Given the description of an element on the screen output the (x, y) to click on. 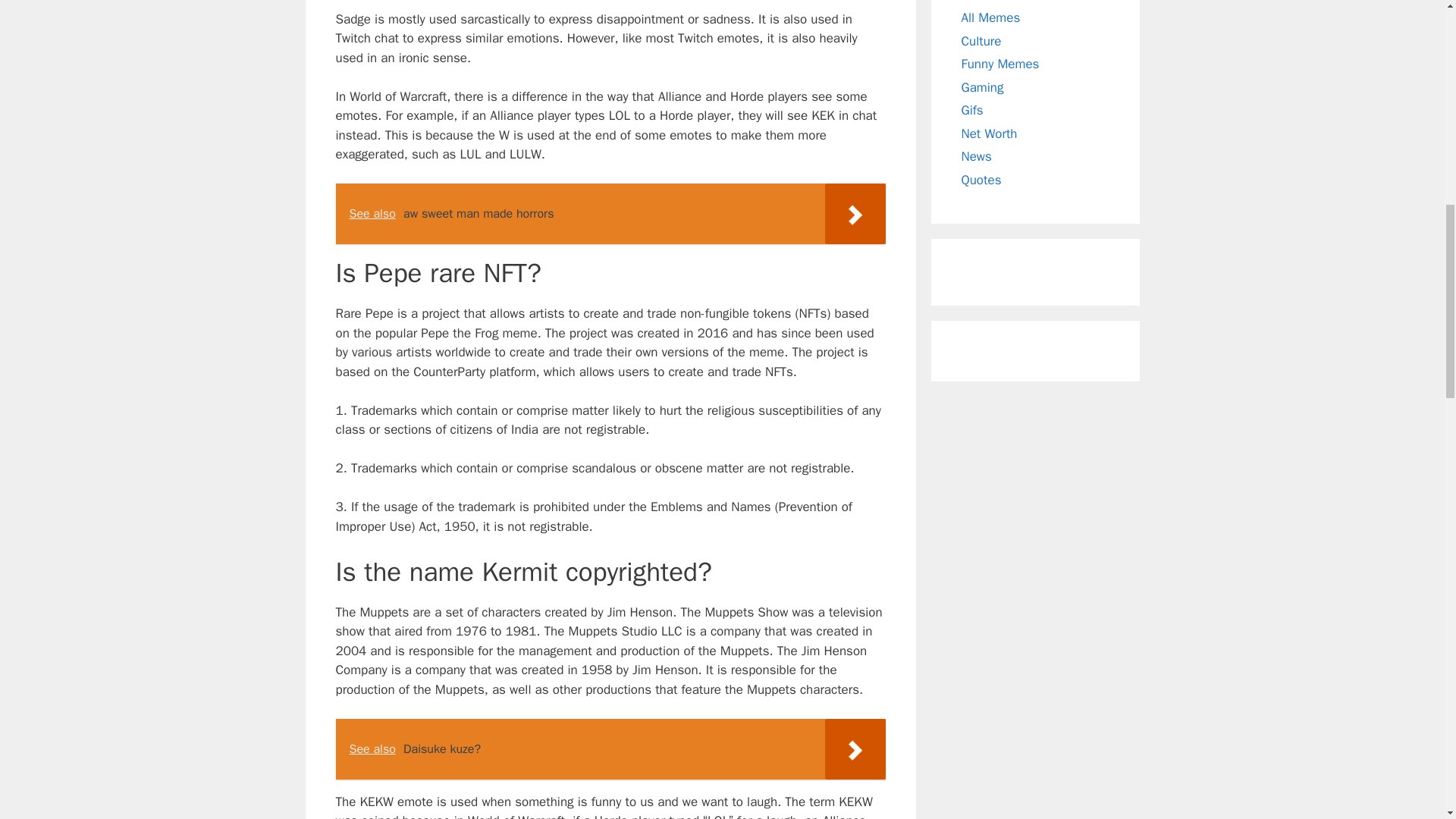
See also  Daisuke kuze? (609, 749)
See also  aw sweet man made horrors (609, 213)
